Given the description of an element on the screen output the (x, y) to click on. 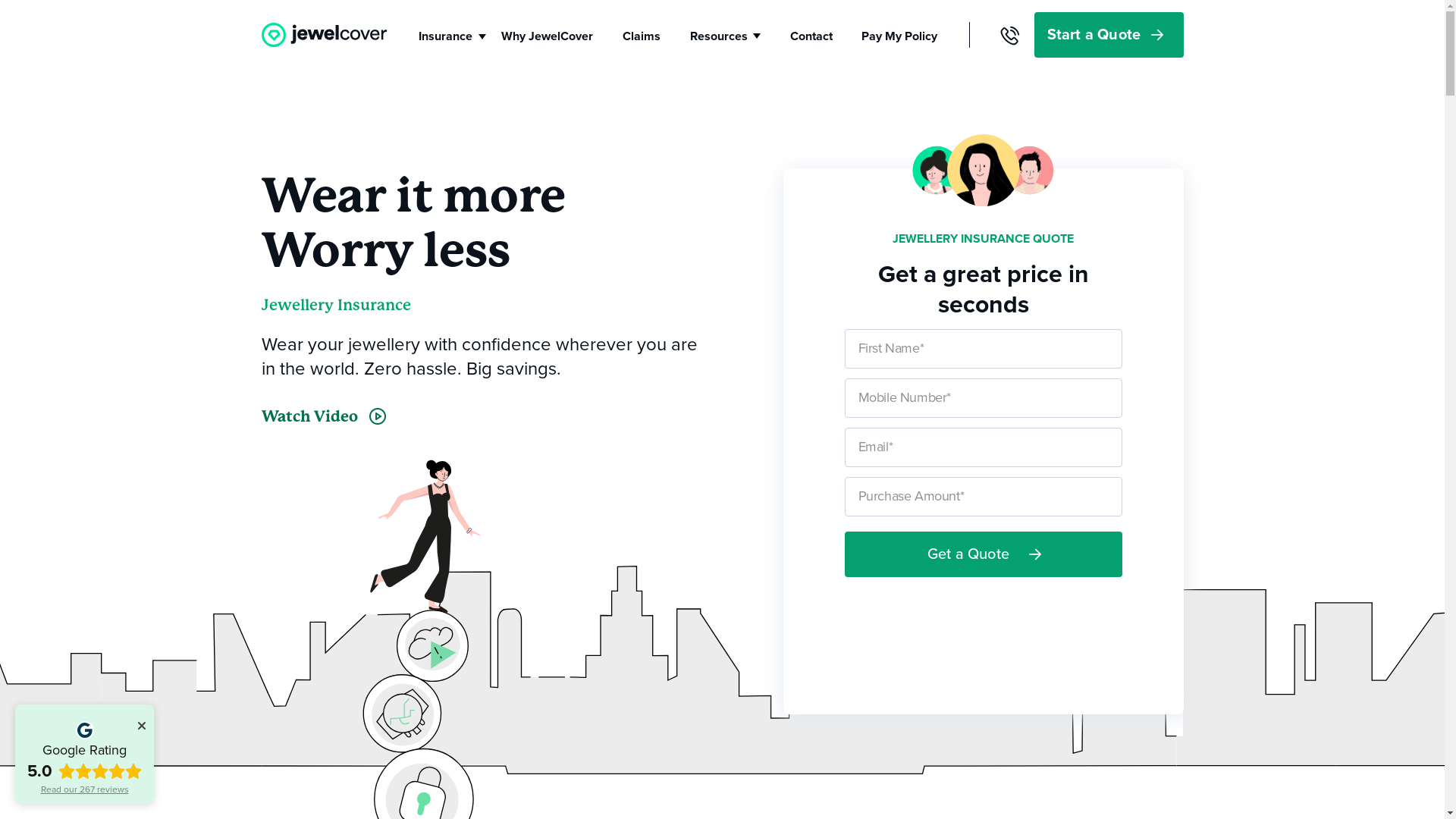
Watch Video Element type: text (322, 415)
Why JewelCover Element type: text (547, 35)
Claims Element type: text (641, 35)
Start a Quote Element type: text (1108, 34)
Pay My Policy Element type: text (899, 35)
Get a Quote Element type: text (983, 554)
Resources Element type: text (718, 35)
Logo Element type: hover (322, 34)
Show submenu for Resources Element type: text (756, 35)
Contact Element type: text (811, 35)
